Given the description of an element on the screen output the (x, y) to click on. 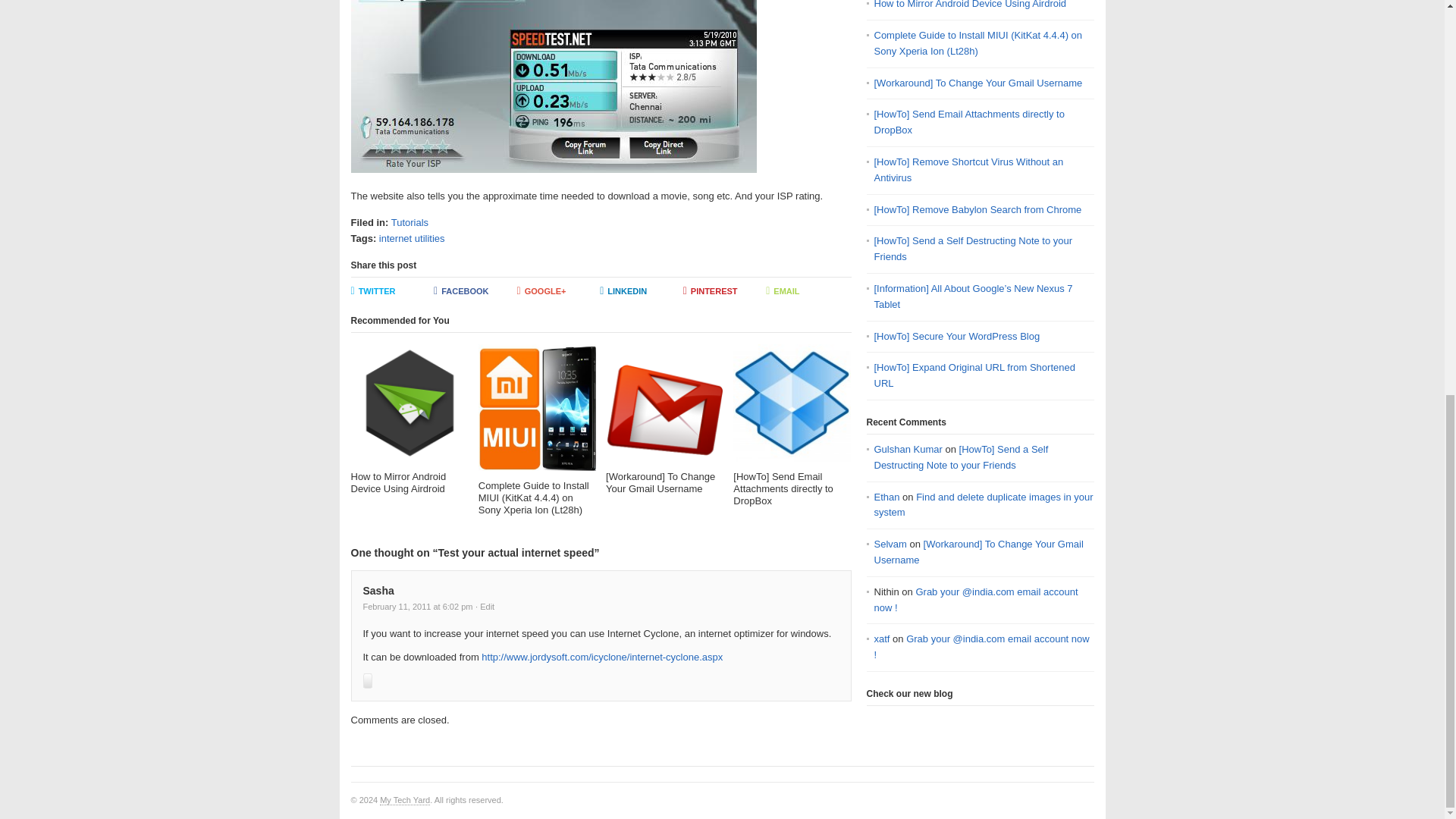
Edit Comment (485, 605)
Speed test report (552, 86)
